Given the description of an element on the screen output the (x, y) to click on. 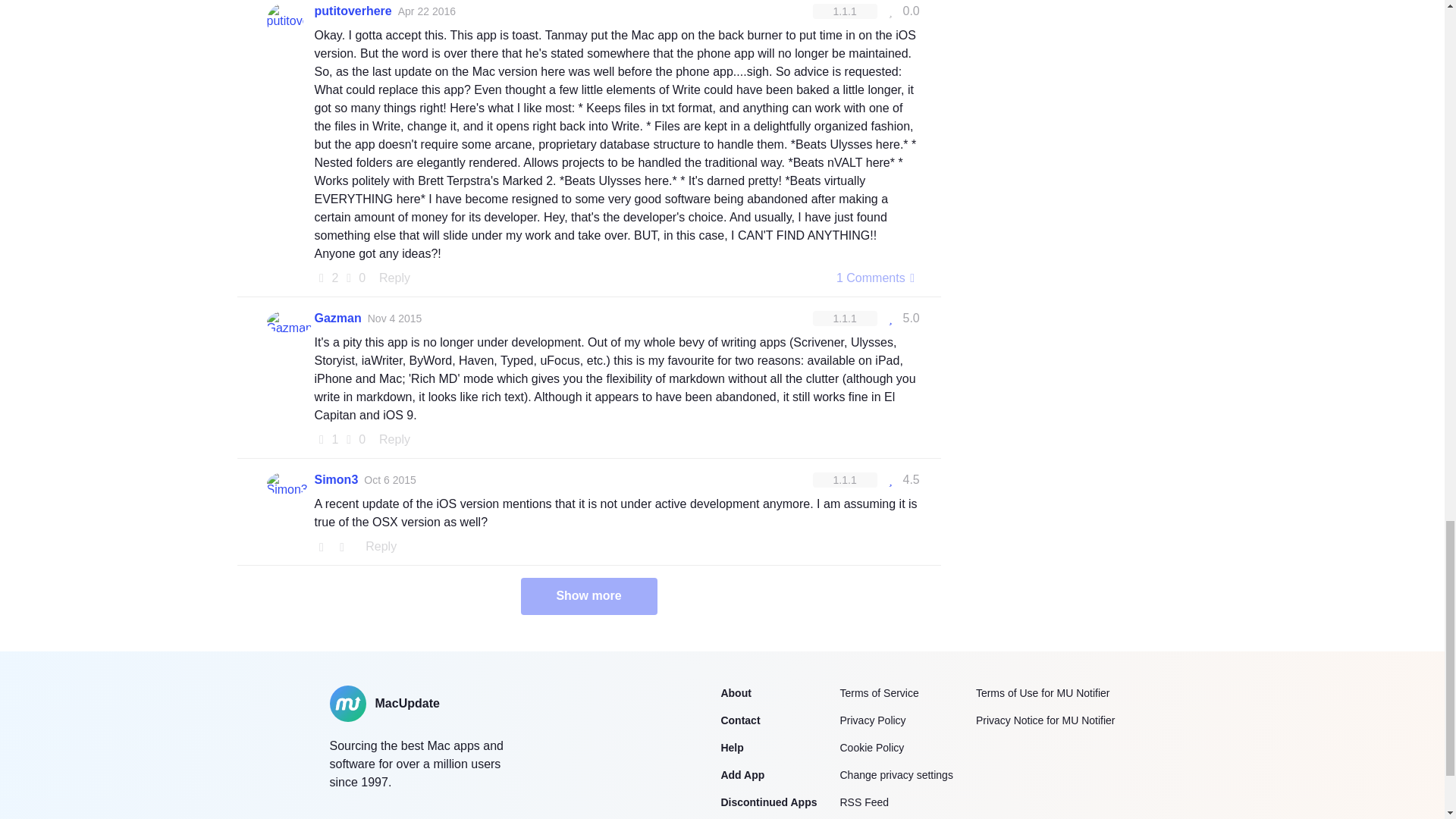
Simon3 (336, 479)
Version: 1.1.1 (844, 479)
Version: 1.1.1 (844, 11)
putitoverhere (352, 11)
Version: 1.1.1 (844, 318)
Gazman (337, 318)
